Given the description of an element on the screen output the (x, y) to click on. 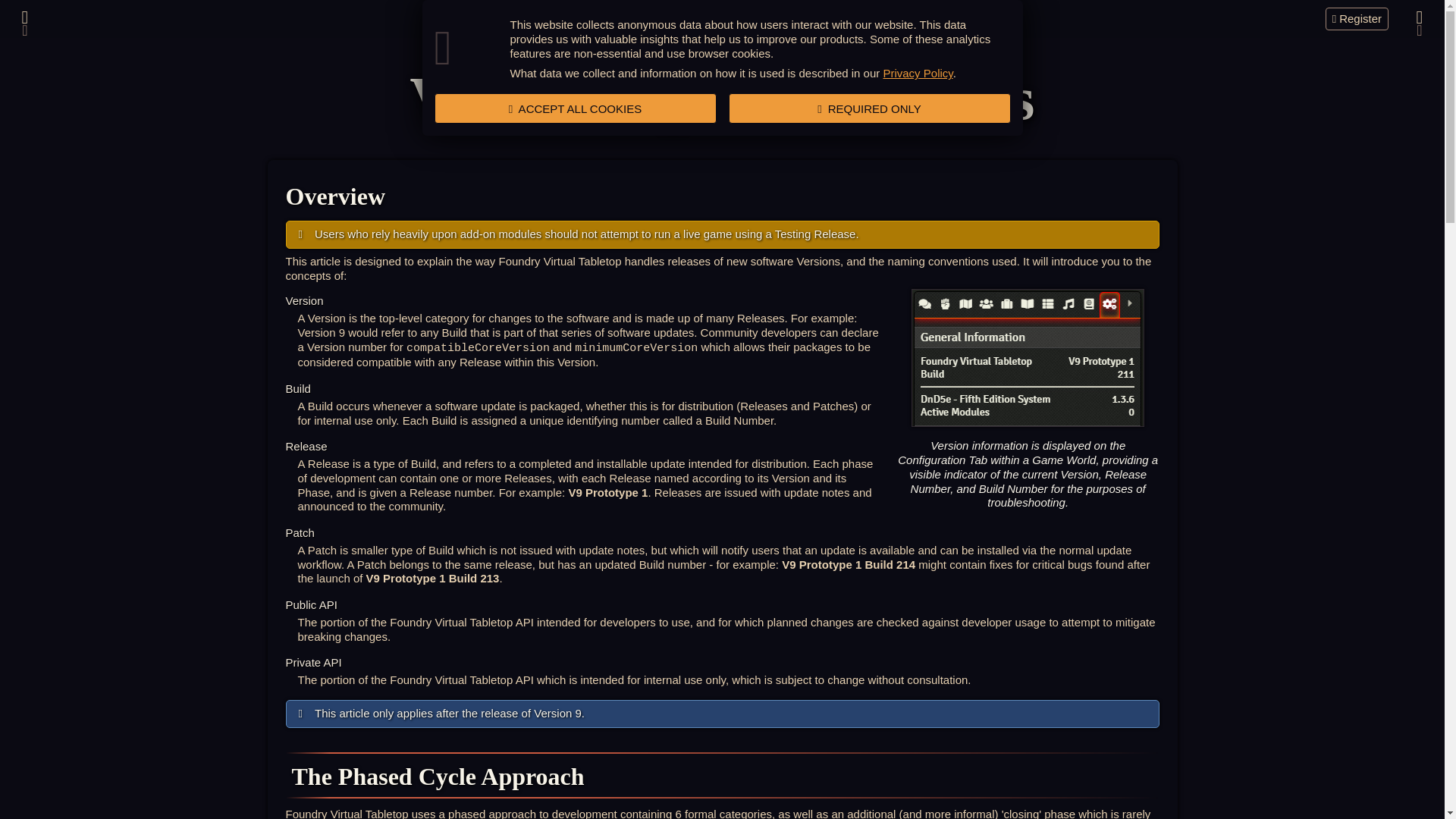
Privacy Policy (917, 72)
ACCEPT ALL COOKIES (574, 108)
Register Account (1356, 18)
Privacy Policy (917, 72)
Register (1356, 18)
REQUIRED ONLY (869, 108)
